Given the description of an element on the screen output the (x, y) to click on. 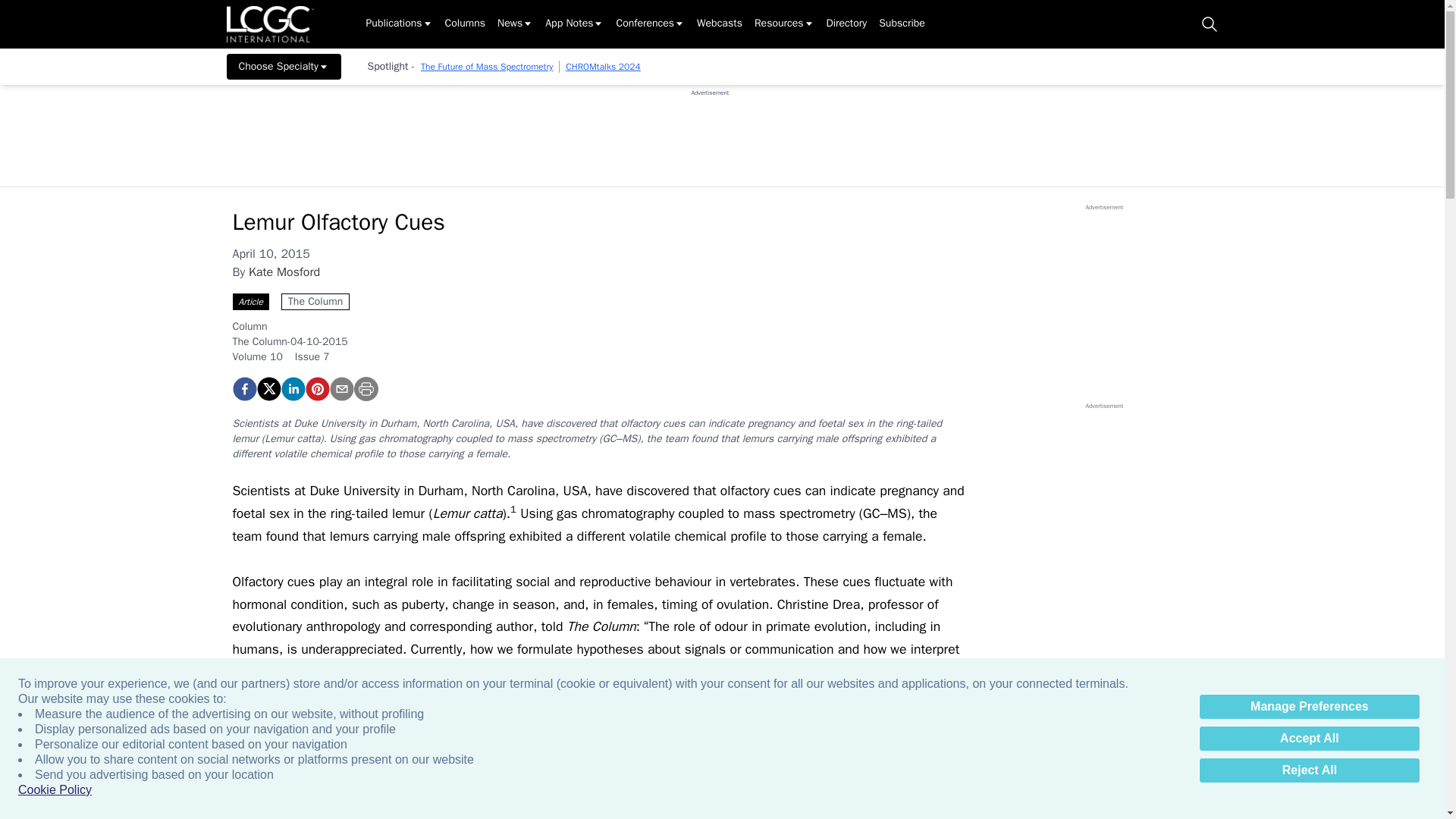
Manage Preferences (1309, 706)
Columns (464, 23)
Reject All (1309, 769)
App Notes (574, 23)
News (514, 23)
Accept All (1309, 738)
3rd party ad content (709, 131)
Publications (398, 23)
Lemur Olfactory Cues (316, 388)
Cookie Policy (54, 789)
Lemur Olfactory Cues (243, 388)
